Given the description of an element on the screen output the (x, y) to click on. 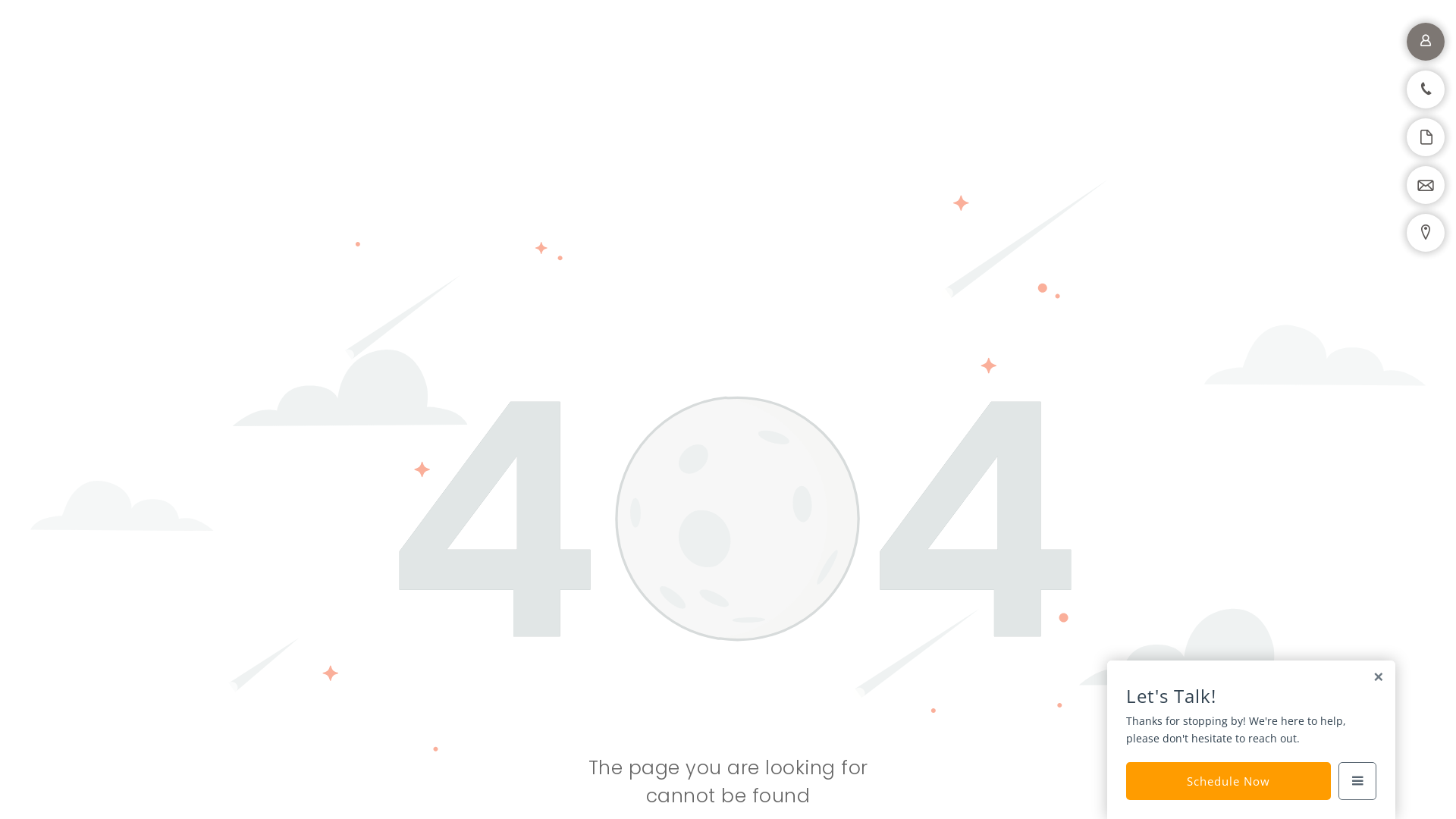
Schedule Now Element type: text (1228, 781)
